Given the description of an element on the screen output the (x, y) to click on. 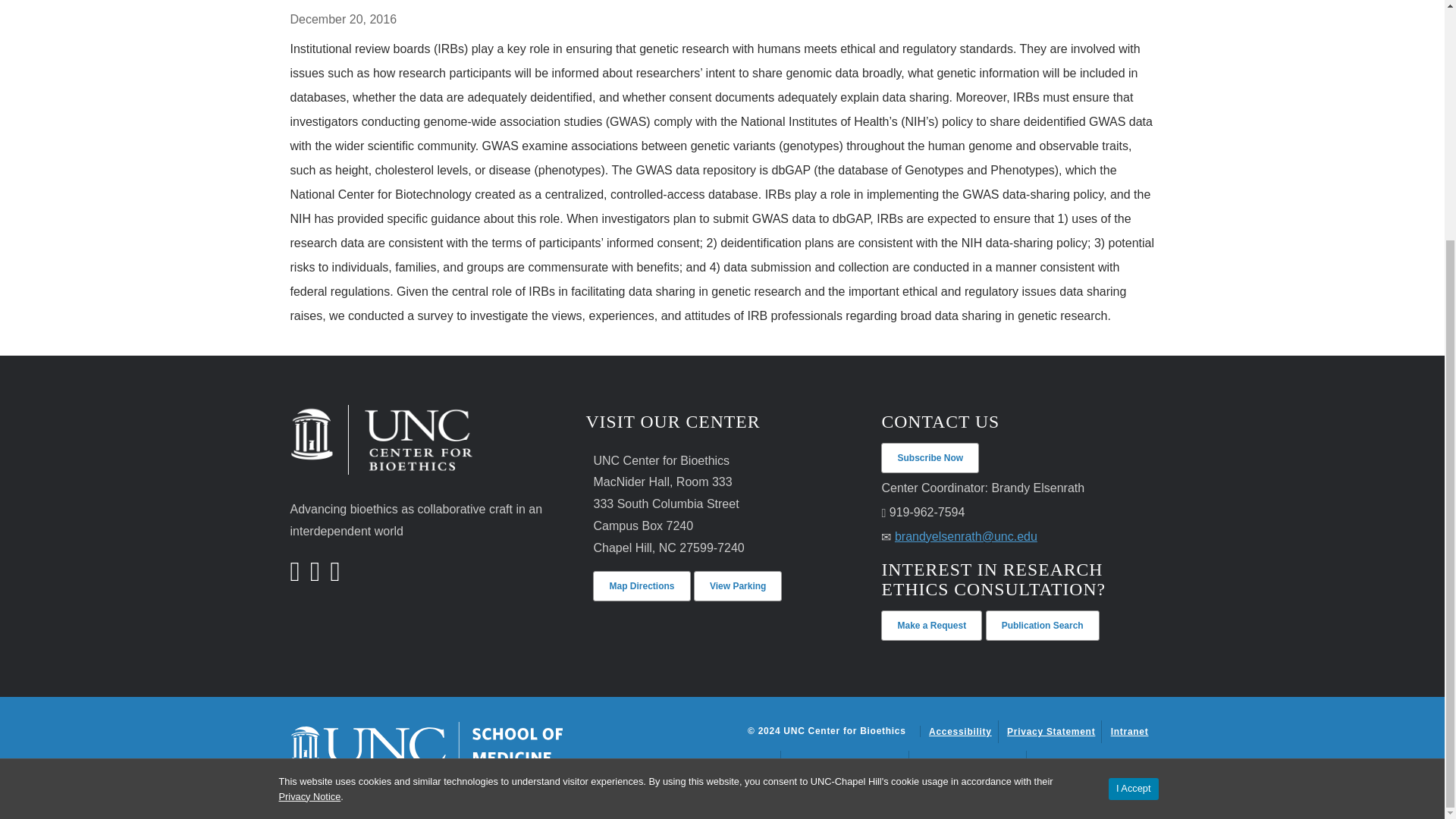
Map Directions (641, 585)
Privacy Notice (309, 465)
I Accept (1133, 458)
UNC School of Medicine (425, 744)
Make a Request (930, 625)
Accessibility (959, 731)
Subscribe Now (929, 458)
Publication Search (1042, 625)
View Parking (737, 585)
